Given the description of an element on the screen output the (x, y) to click on. 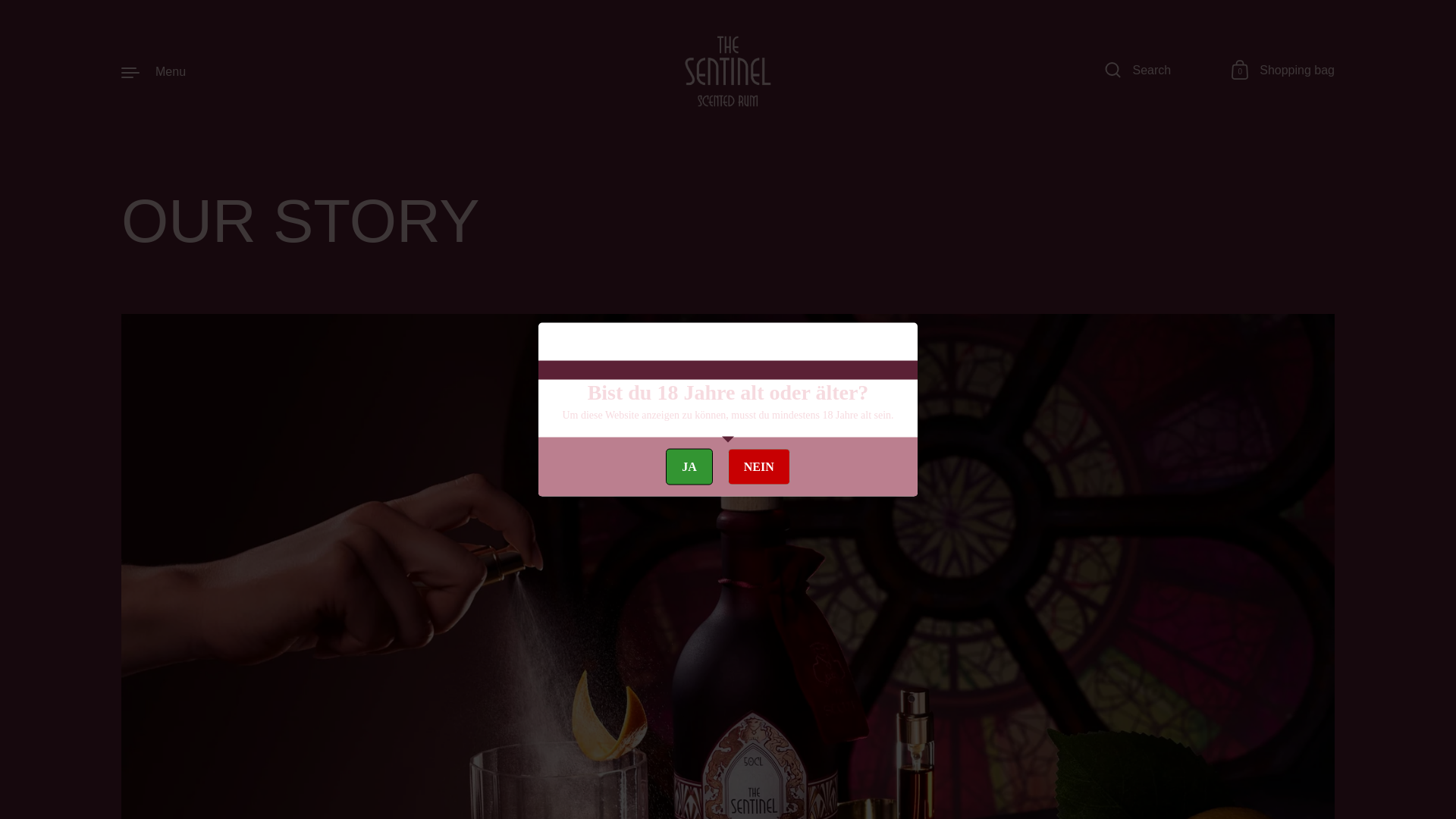
Menu (153, 71)
The Sentinel Rum (727, 70)
Search (1138, 71)
